Given the description of an element on the screen output the (x, y) to click on. 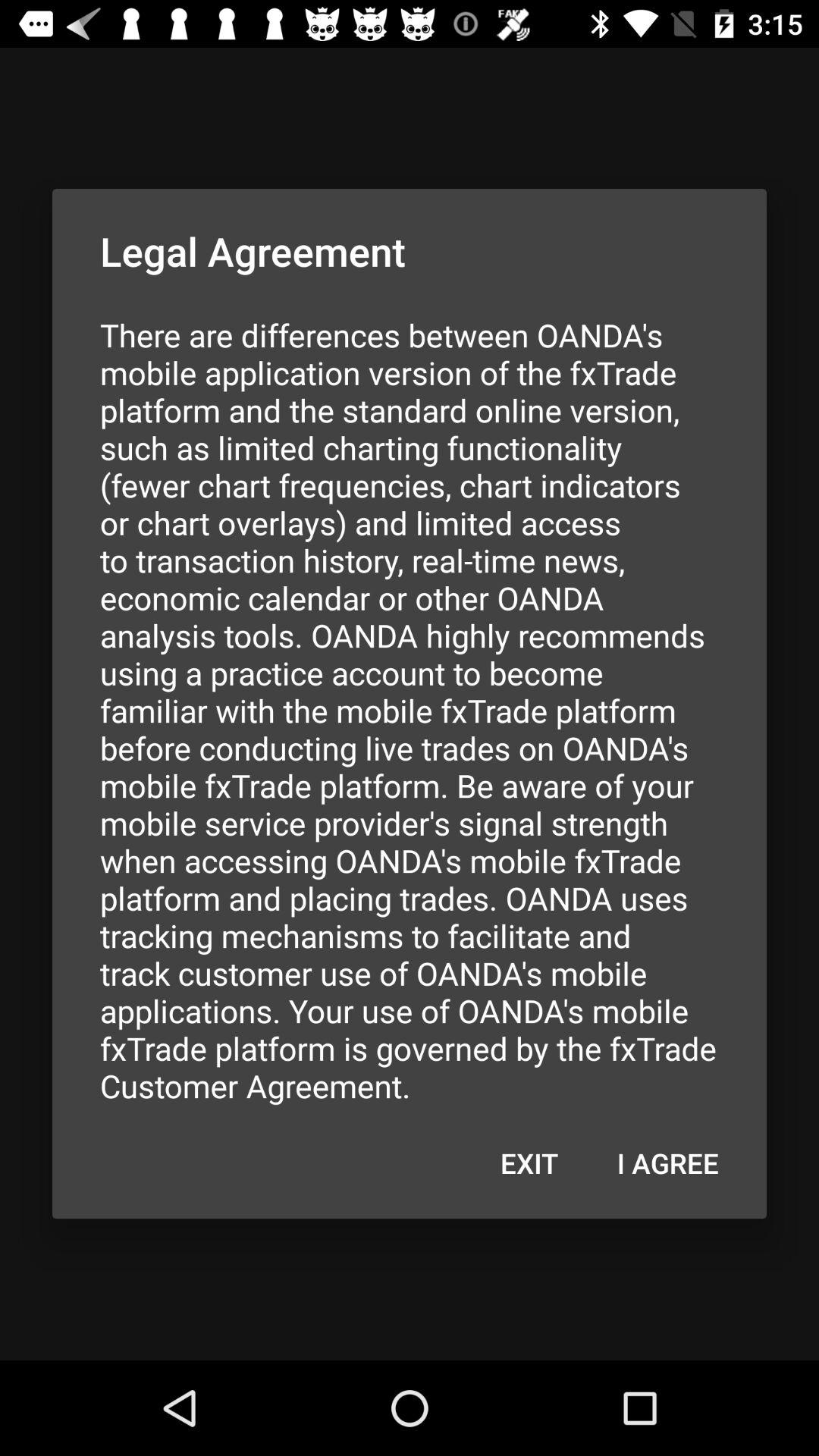
turn on item below the there are differences (667, 1162)
